Given the description of an element on the screen output the (x, y) to click on. 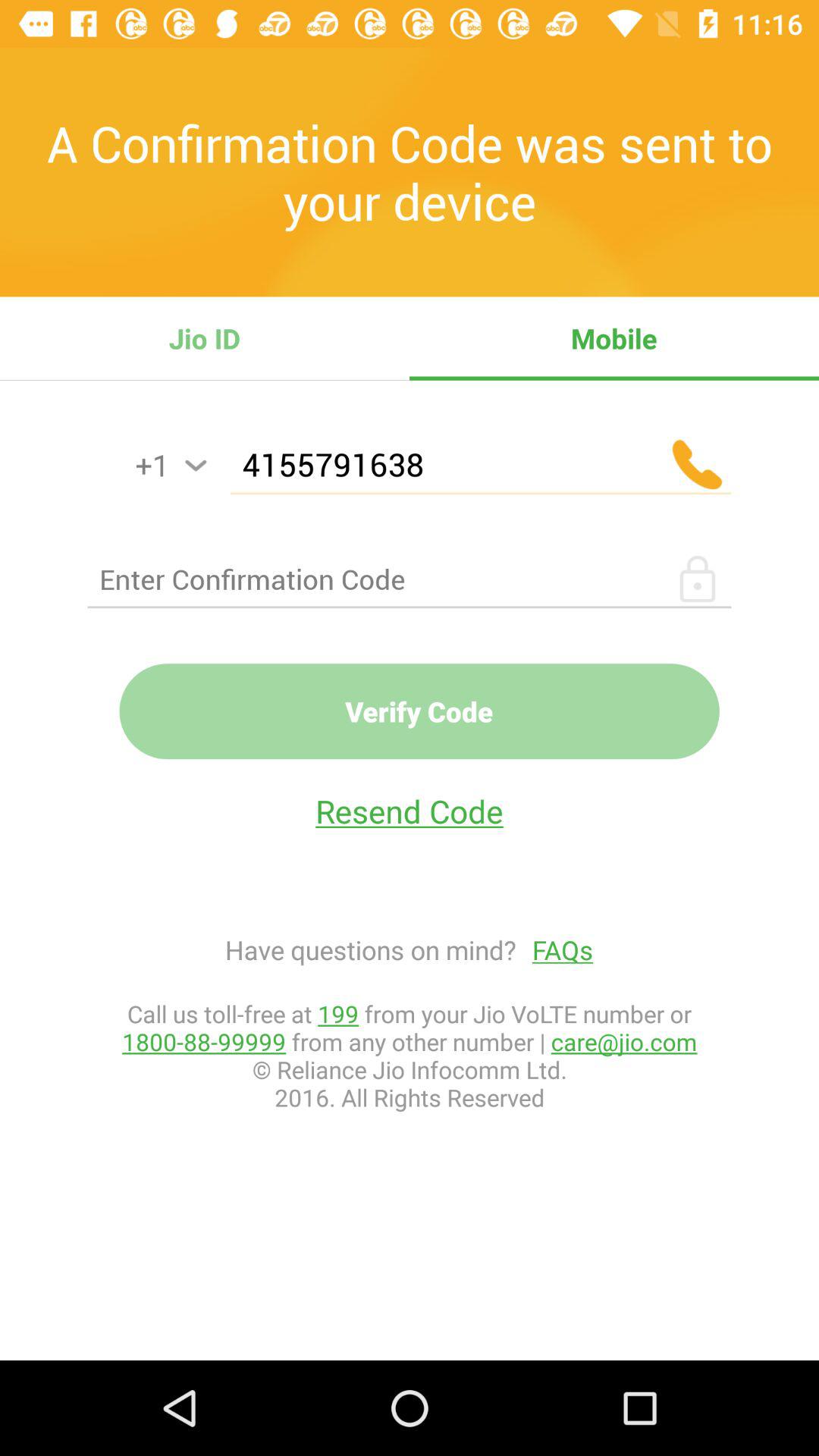
select item to the right of the +1 icon (195, 465)
